Given the description of an element on the screen output the (x, y) to click on. 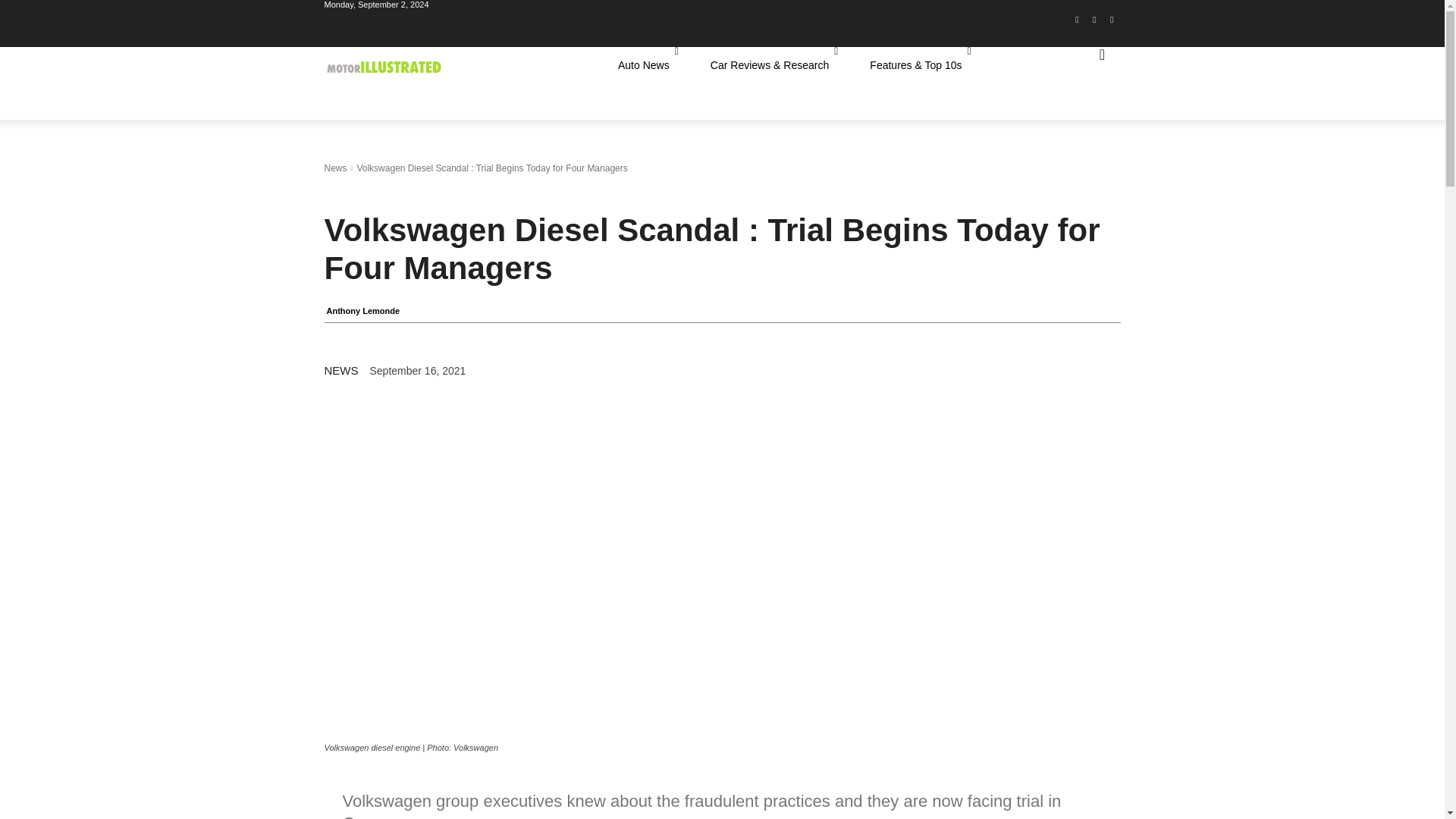
Auto News (648, 64)
Instagram (1094, 23)
View all posts in News (335, 167)
Facebook (1077, 23)
Youtube (1112, 23)
